Given the description of an element on the screen output the (x, y) to click on. 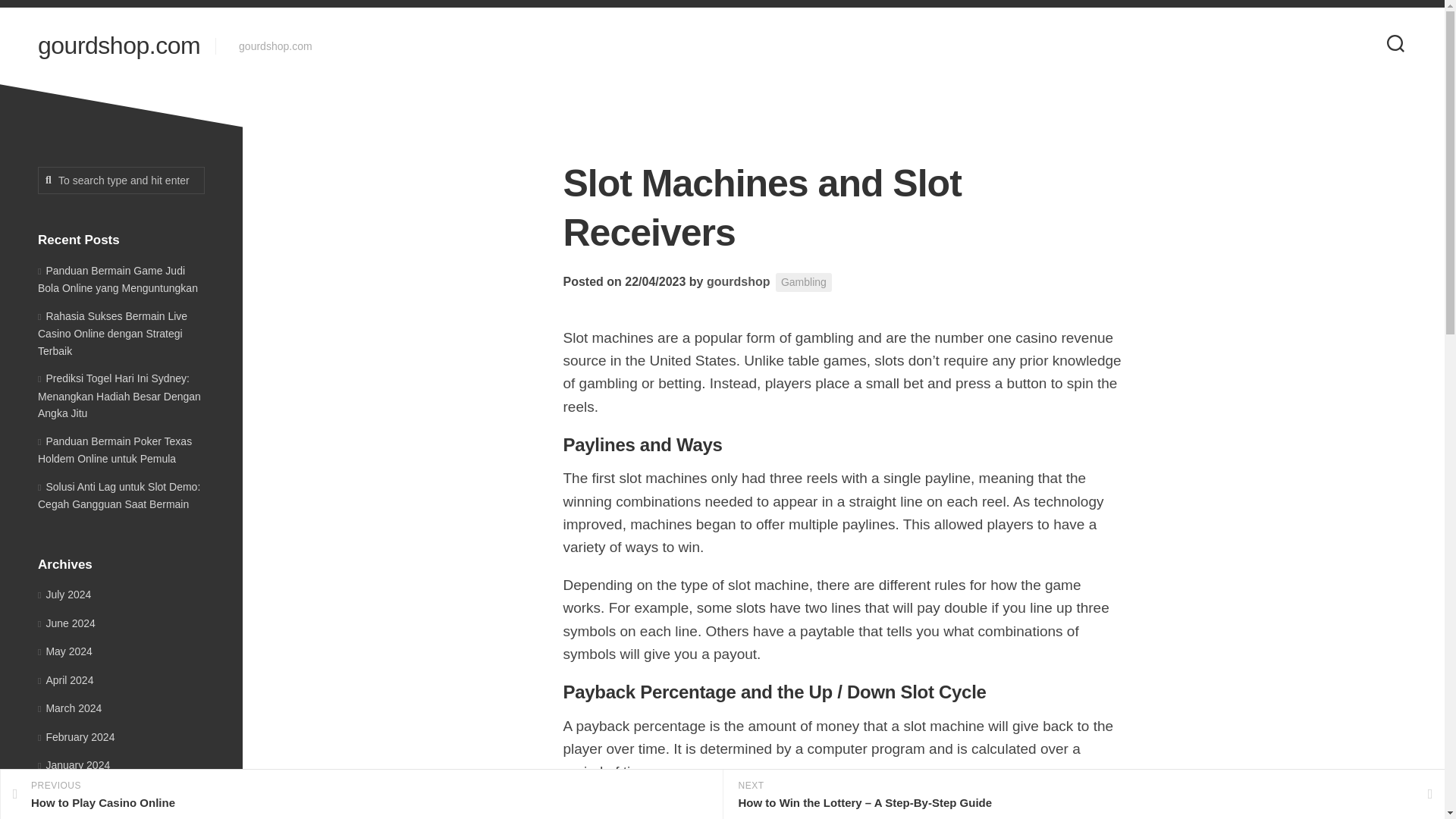
Solusi Anti Lag untuk Slot Demo: Cegah Gangguan Saat Bermain (118, 495)
Panduan Bermain Poker Texas Holdem Online untuk Pemula (114, 450)
June 2024 (66, 623)
Posts by gourdshop (738, 281)
Panduan Bermain Game Judi Bola Online yang Menguntungkan (117, 278)
February 2024 (76, 736)
To search type and hit enter (121, 180)
April 2024 (65, 679)
January 2024 (73, 765)
November 2023 (361, 794)
March 2024 (78, 817)
May 2024 (69, 707)
